Given the description of an element on the screen output the (x, y) to click on. 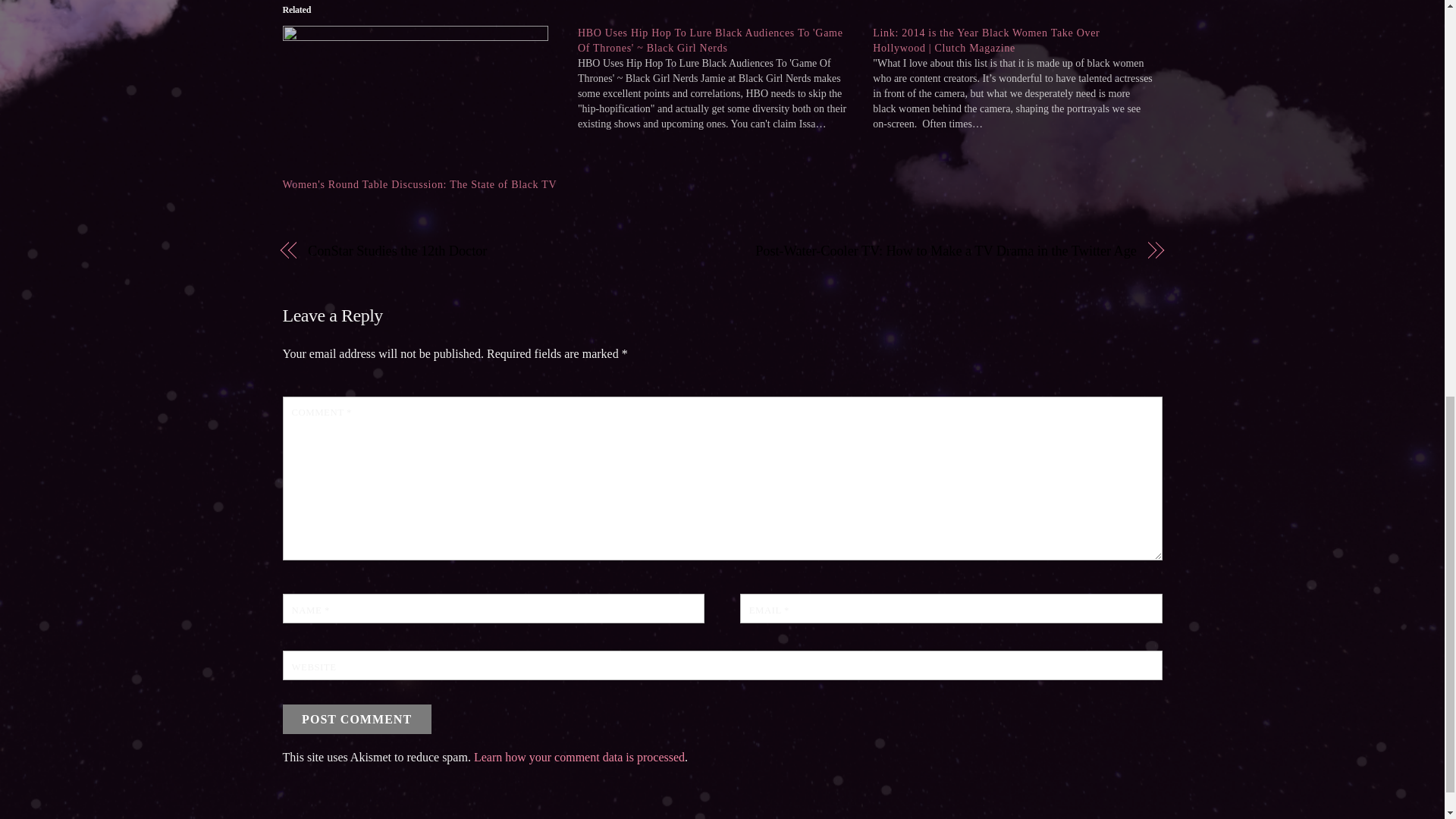
ConStar Studies the 12th Doctor (501, 250)
Post Comment (356, 718)
Learn how your comment data is processed (579, 757)
Post Comment (356, 718)
Women's Round Table Discussion: The State of Black TV (419, 184)
